Given the description of an element on the screen output the (x, y) to click on. 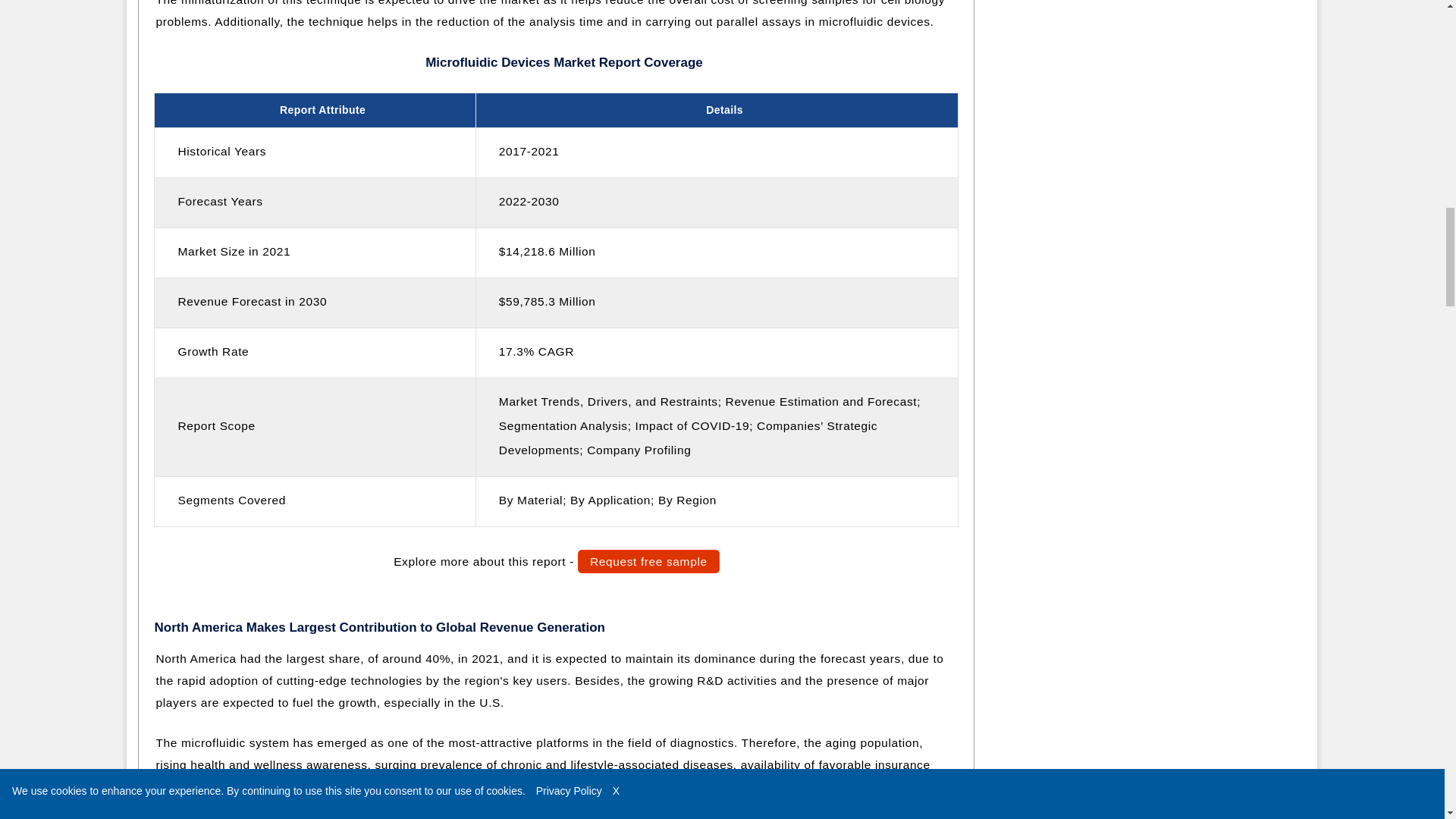
Request free sample (648, 561)
